Given the description of an element on the screen output the (x, y) to click on. 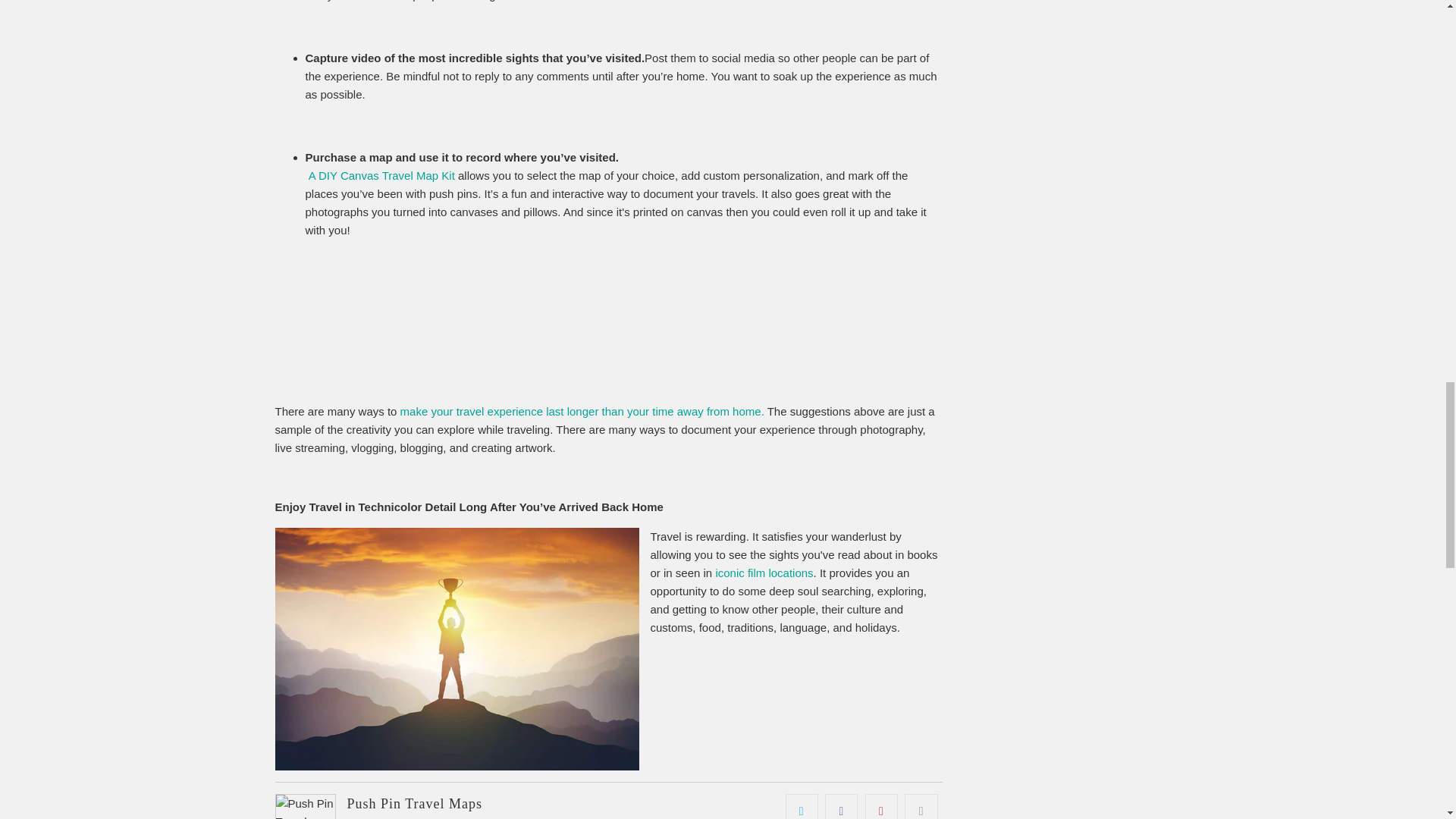
iconic film locations (763, 571)
Share this on Twitter (802, 806)
Canvas Map Poster DIY Kit (381, 174)
